Given the description of an element on the screen output the (x, y) to click on. 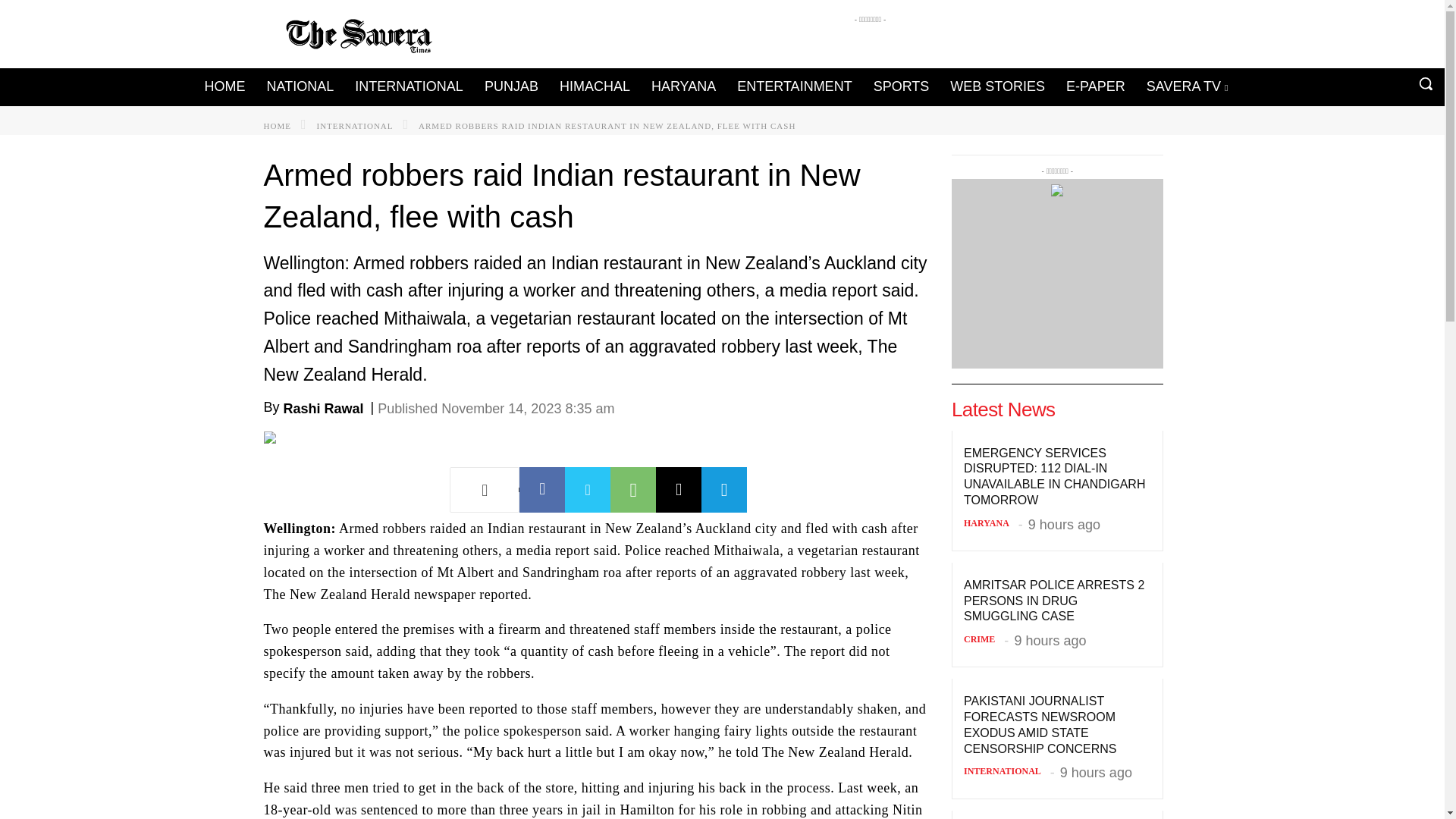
ENTERTAINMENT (793, 85)
INTERNATIONAL (355, 125)
HIMACHAL (594, 85)
WEB STORIES (997, 85)
HOME (277, 125)
HOME (223, 86)
E-PAPER (1095, 85)
Email (678, 489)
Facebook (541, 489)
SAVERA TV (1187, 85)
Twitter (587, 489)
Rashi Rawal (323, 408)
SPORTS (901, 85)
Telegram (723, 489)
WhatsApp (633, 489)
